Given the description of an element on the screen output the (x, y) to click on. 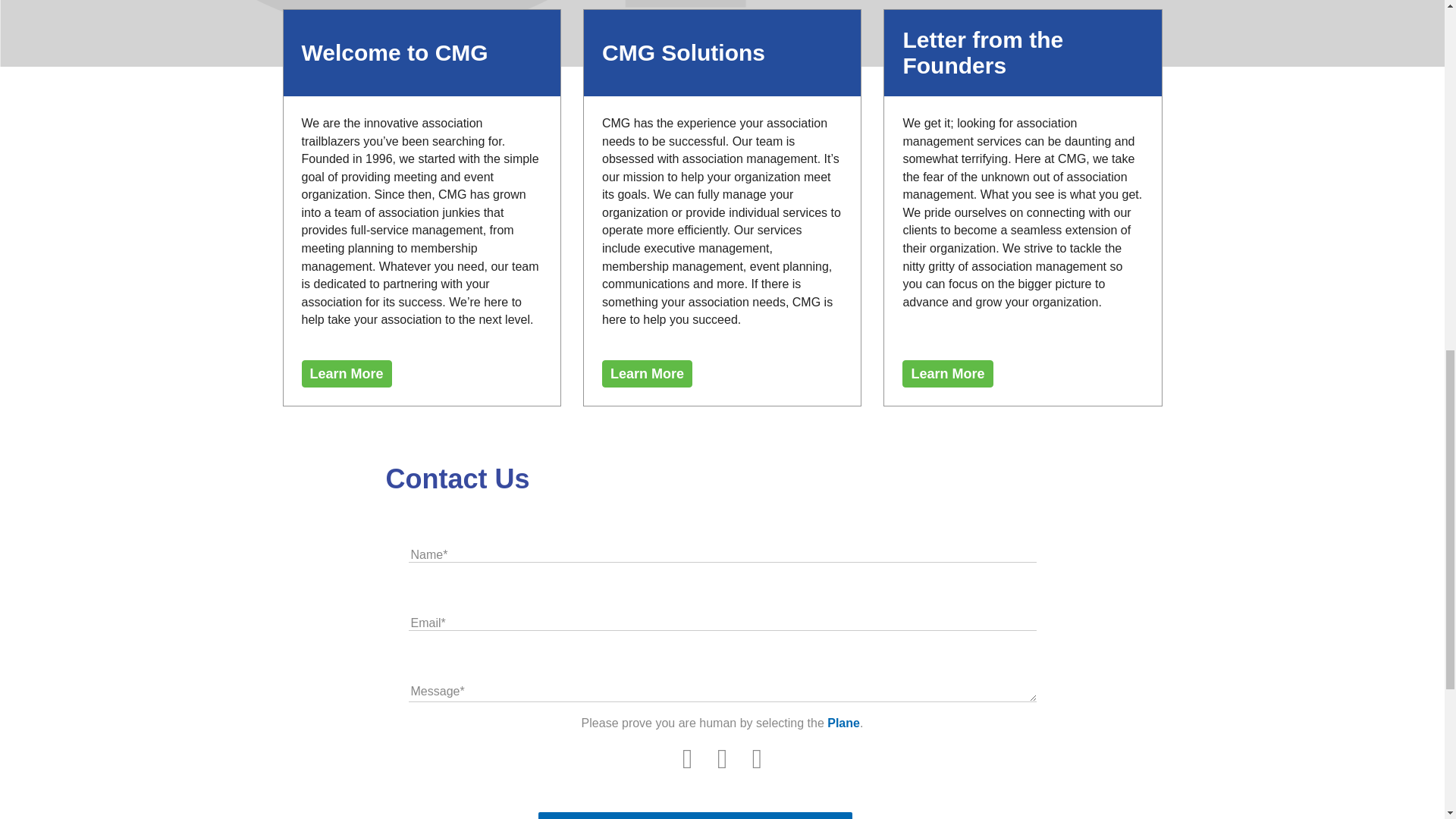
Submit (694, 815)
Submit (694, 815)
Learn More (947, 373)
Learn More (647, 373)
Learn More (346, 373)
